Given the description of an element on the screen output the (x, y) to click on. 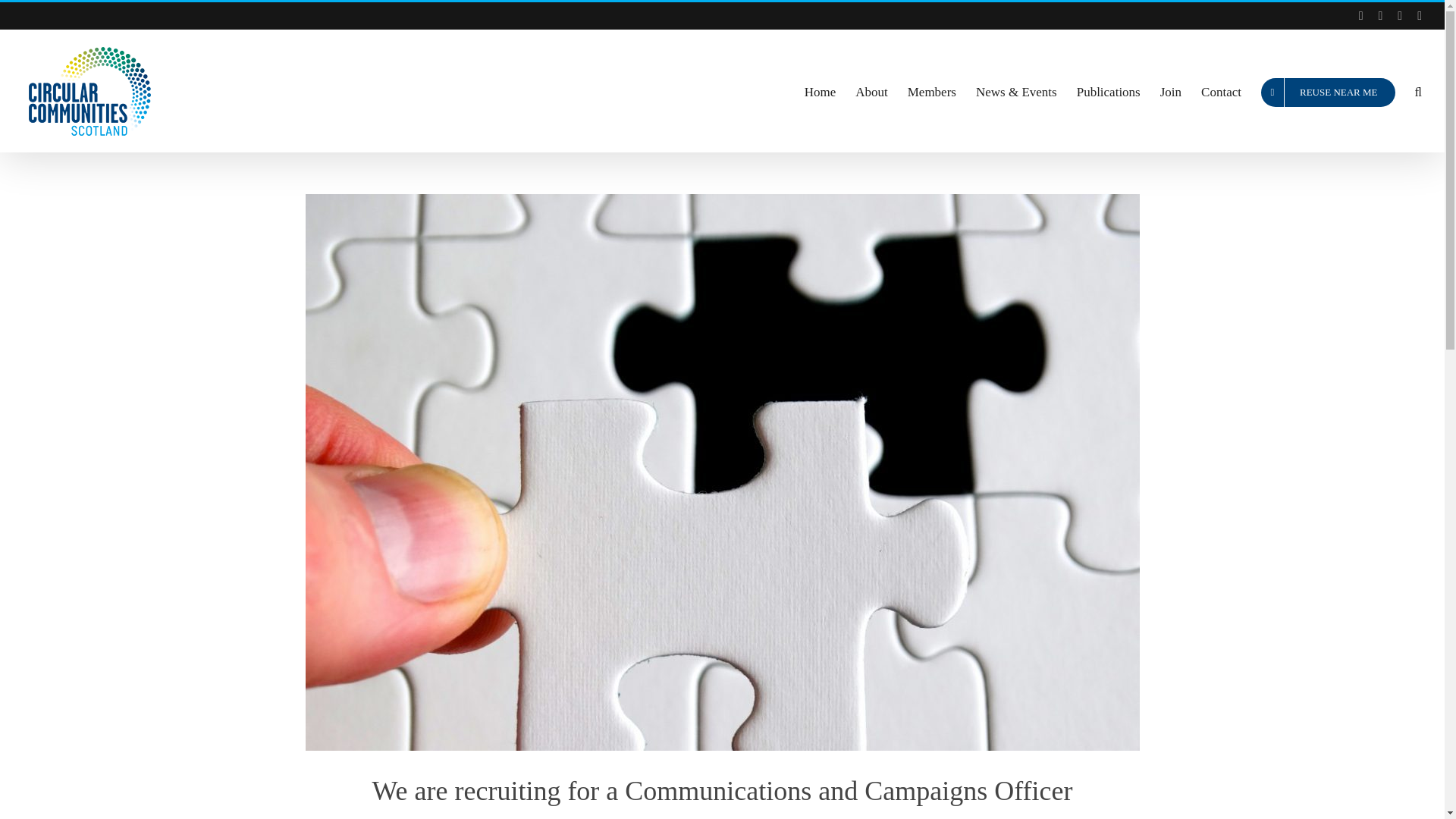
REUSE NEAR ME (1327, 90)
